Given the description of an element on the screen output the (x, y) to click on. 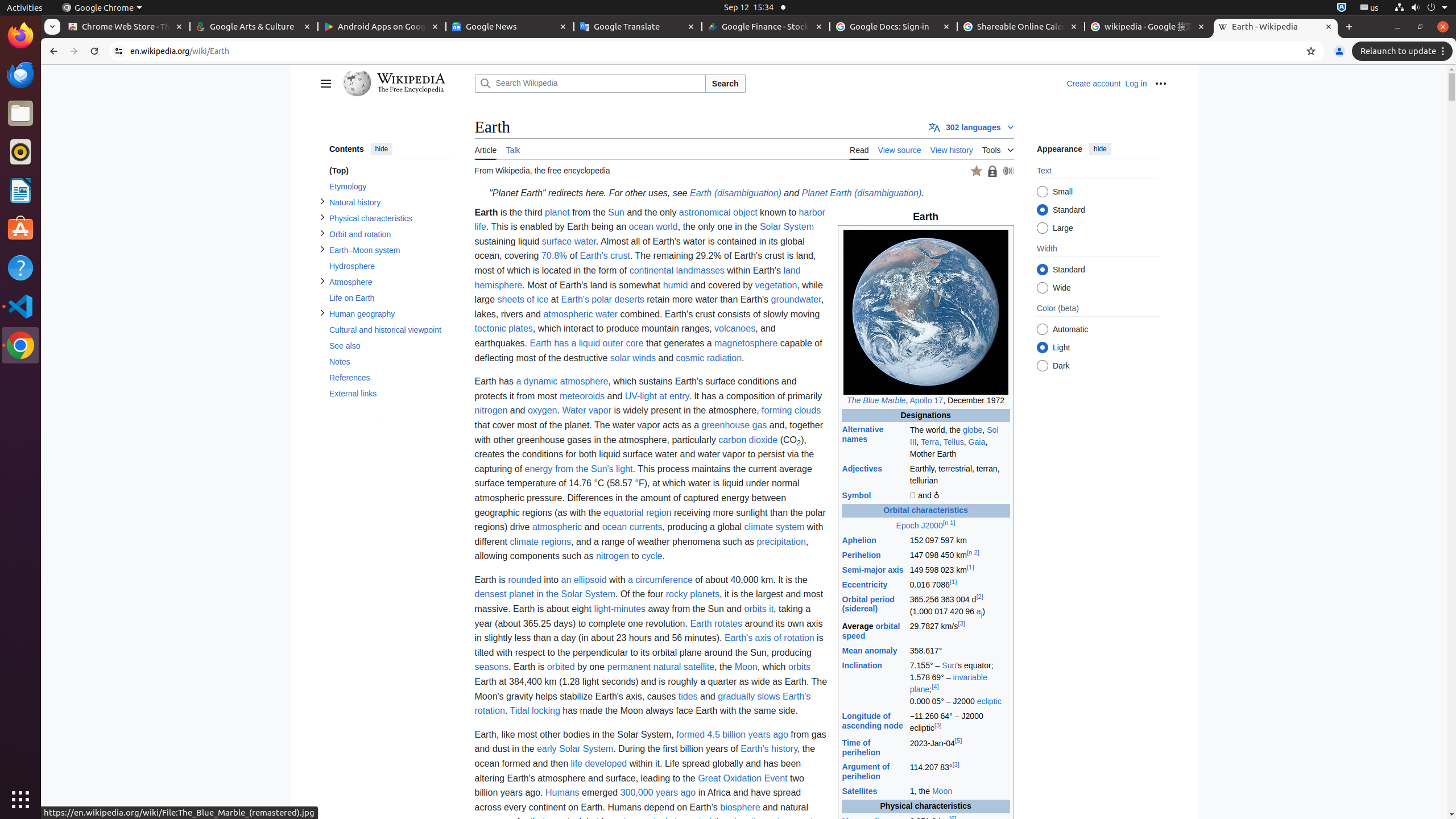
2023-Jan-04[5] Element type: table-cell (959, 747)
Toggle Earth–Moon system subsection Element type: push-button (321, 248)
Earth's history Element type: link (768, 748)
orbits Element type: link (799, 667)
